Given the description of an element on the screen output the (x, y) to click on. 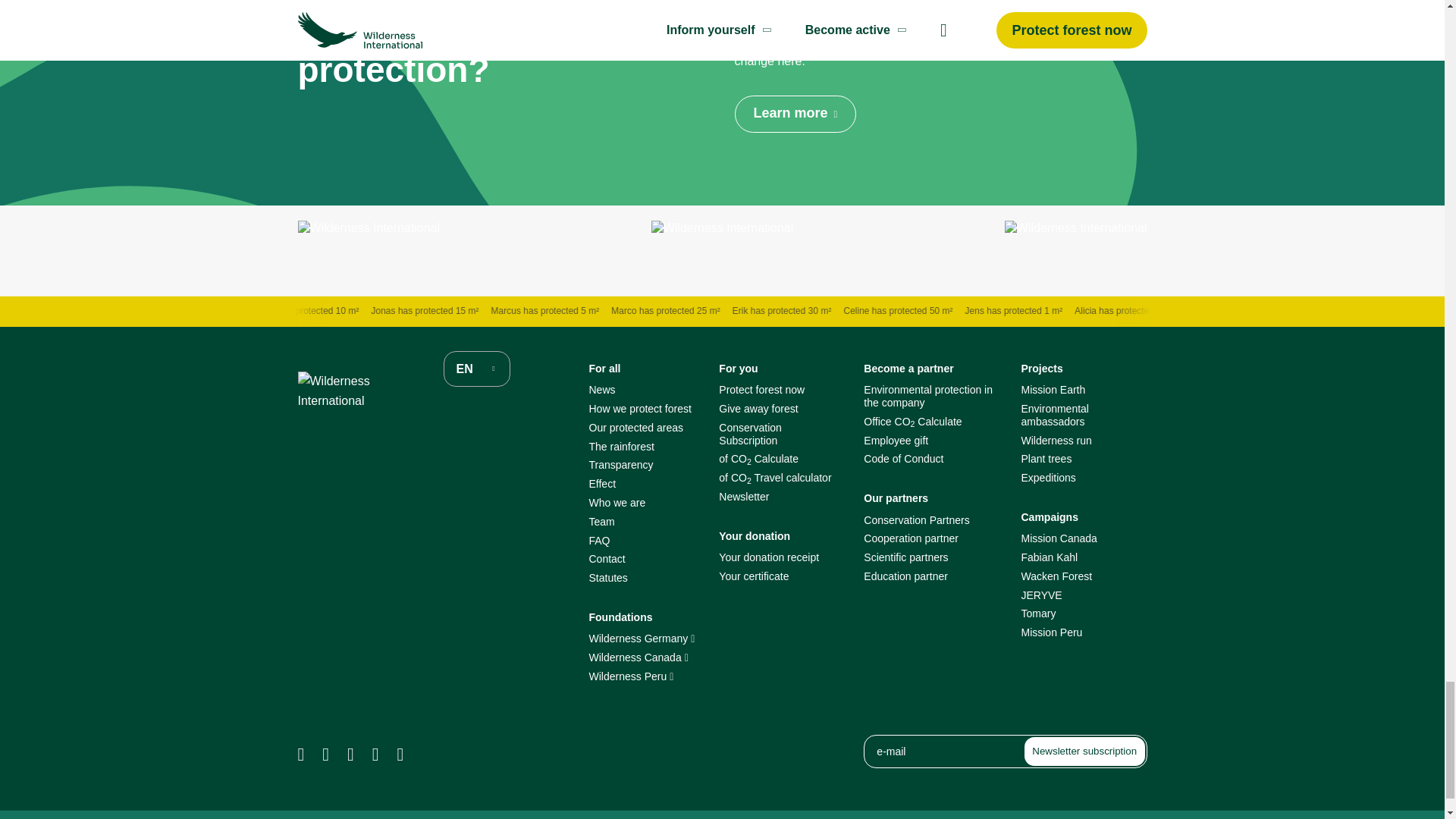
Newsletter subscription (1084, 751)
